Given the description of an element on the screen output the (x, y) to click on. 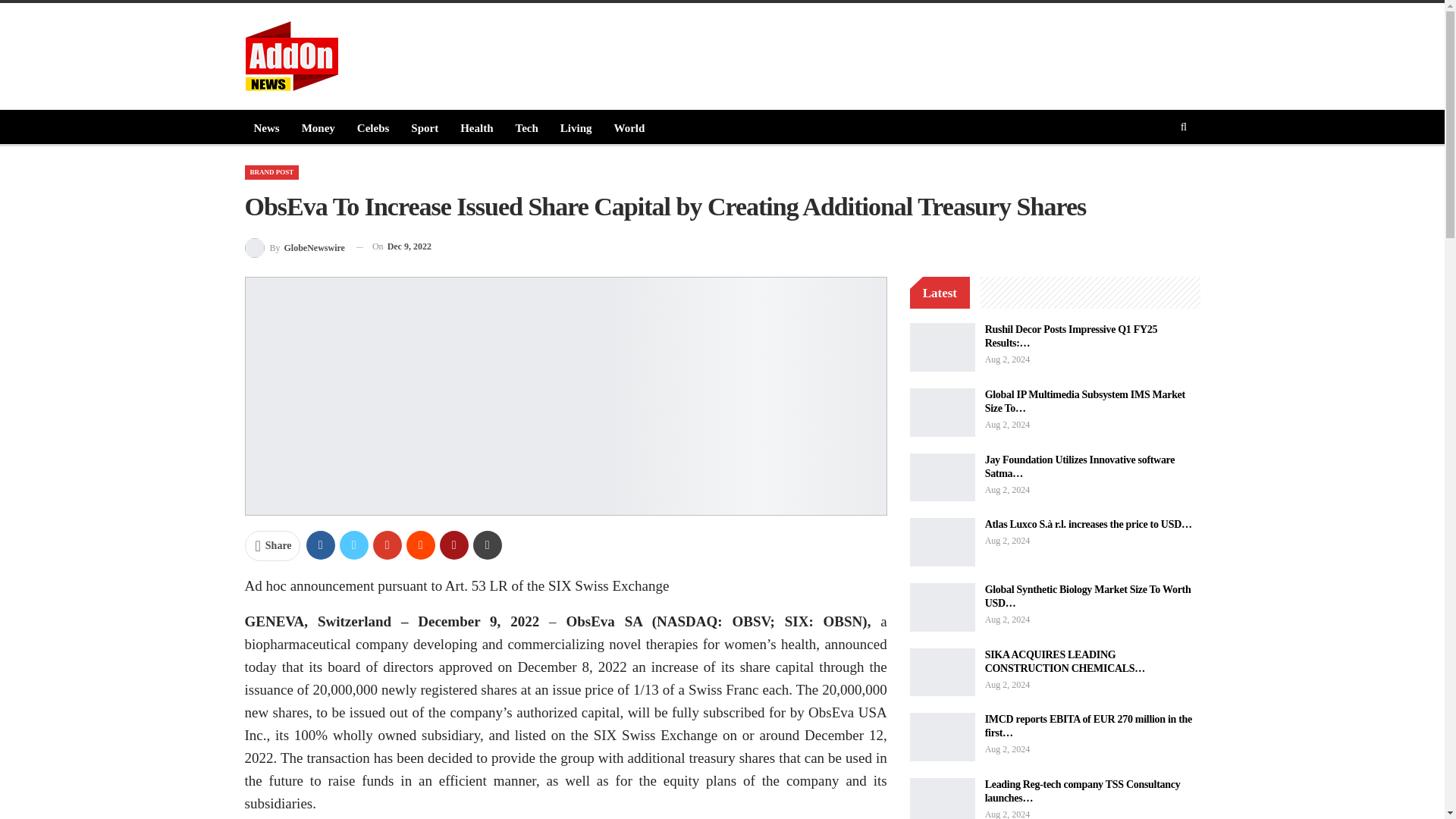
Sport (423, 127)
Living (576, 127)
By GlobeNewswire (293, 246)
Browse Author Articles (293, 246)
Tech (526, 127)
News (266, 127)
Money (317, 127)
BRAND POST (271, 172)
World (629, 127)
Celebs (372, 127)
Health (476, 127)
